Given the description of an element on the screen output the (x, y) to click on. 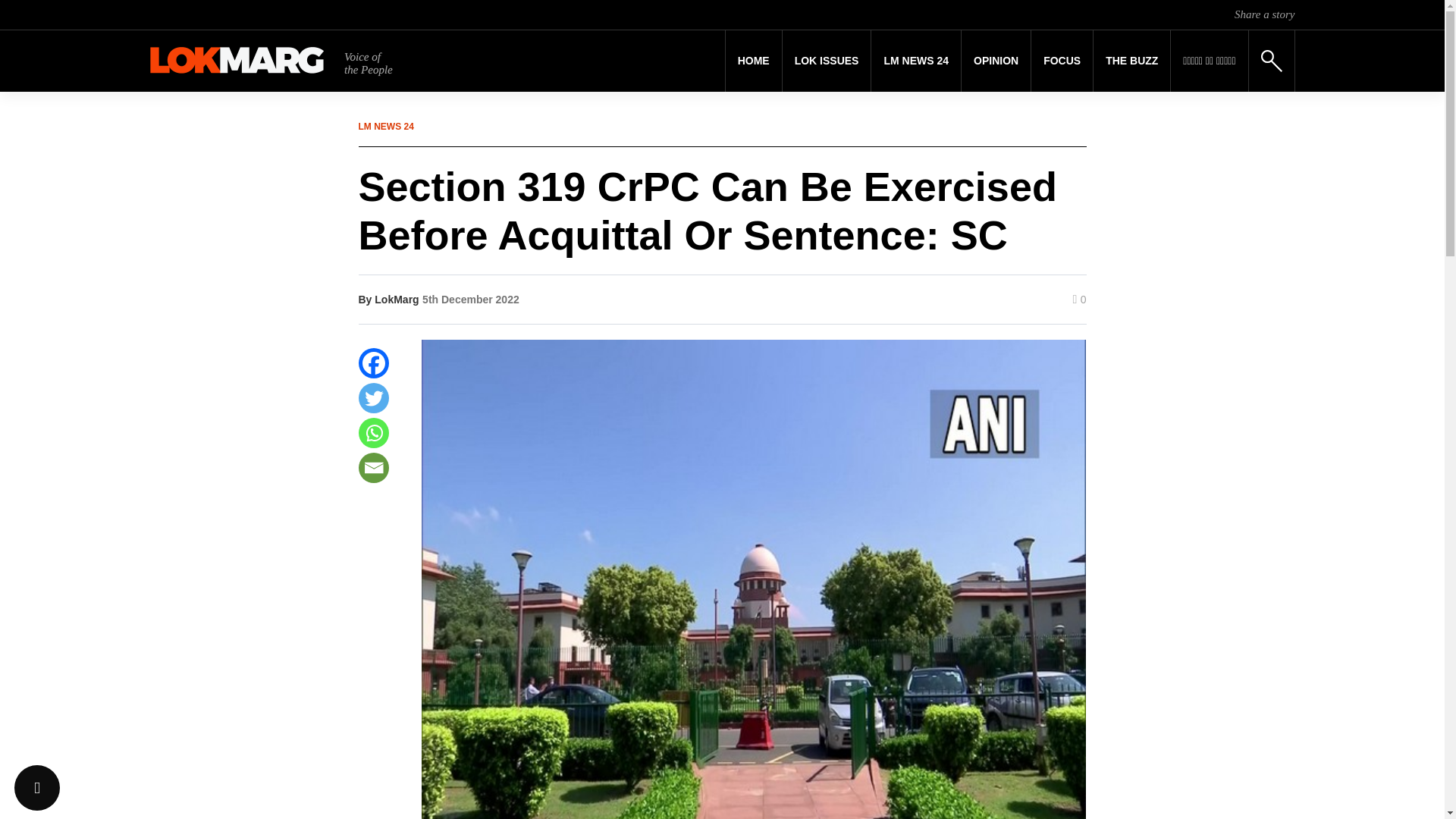
LOK ISSUES (826, 60)
Facebook (373, 363)
Focus (1061, 60)
Opinion (995, 60)
THE BUZZ (1131, 60)
OPINION (995, 60)
HOME (753, 60)
Home (753, 60)
Twitter (373, 398)
THE BUZZ (1131, 60)
